Given the description of an element on the screen output the (x, y) to click on. 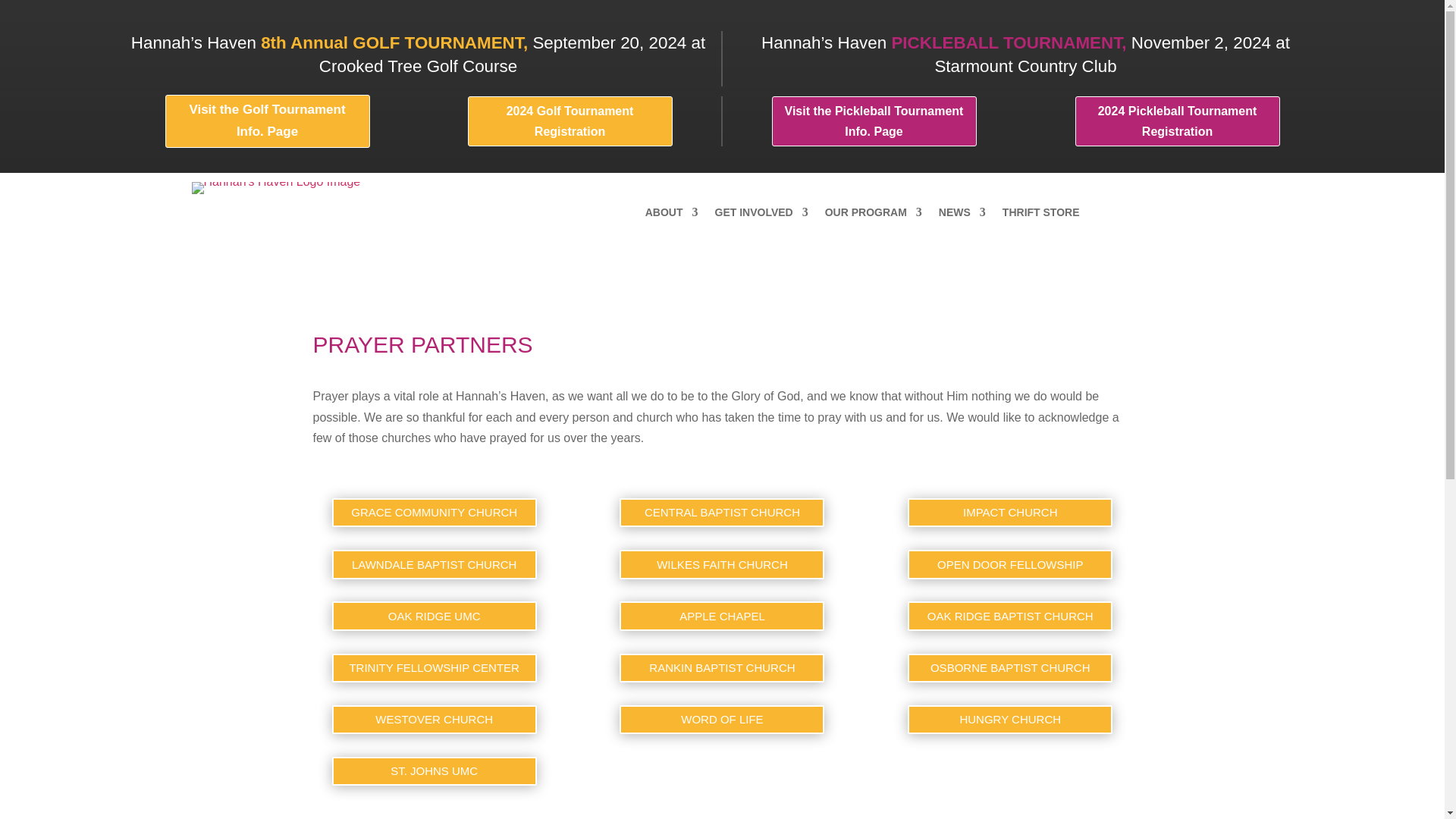
Visit the Golf Tournament Info. Page (267, 121)
ABOUT (671, 215)
Hannahs Haven Logo (274, 187)
GET INVOLVED (761, 215)
2024 Golf Tournament Registration (569, 121)
OUR PROGRAM (873, 215)
2024 Pickleball Tournament Registration (1177, 121)
Visit the Pickleball Tournament Info. Page (873, 121)
NEWS (962, 215)
THRIFT STORE (1041, 215)
